Given the description of an element on the screen output the (x, y) to click on. 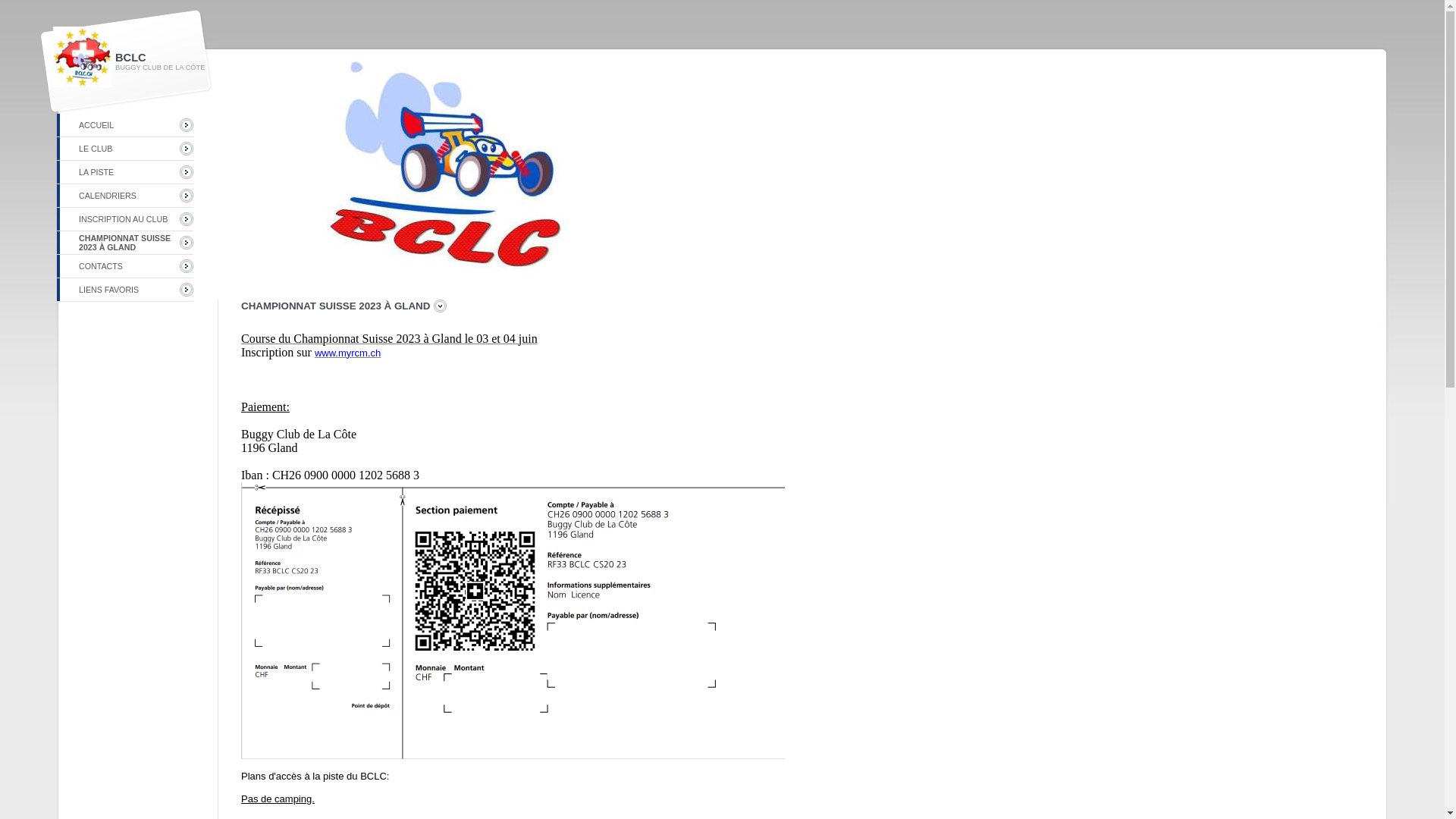
CONTACTS Element type: text (100, 265)
LE CLUB Element type: text (95, 148)
LA PISTE Element type: text (95, 171)
CALENDRIERS Element type: text (107, 195)
INSCRIPTION AU CLUB Element type: text (122, 218)
www.myrcm.ch Element type: text (347, 352)
ACCUEIL Element type: text (95, 124)
LIENS FAVORIS Element type: text (108, 289)
